Given the description of an element on the screen output the (x, y) to click on. 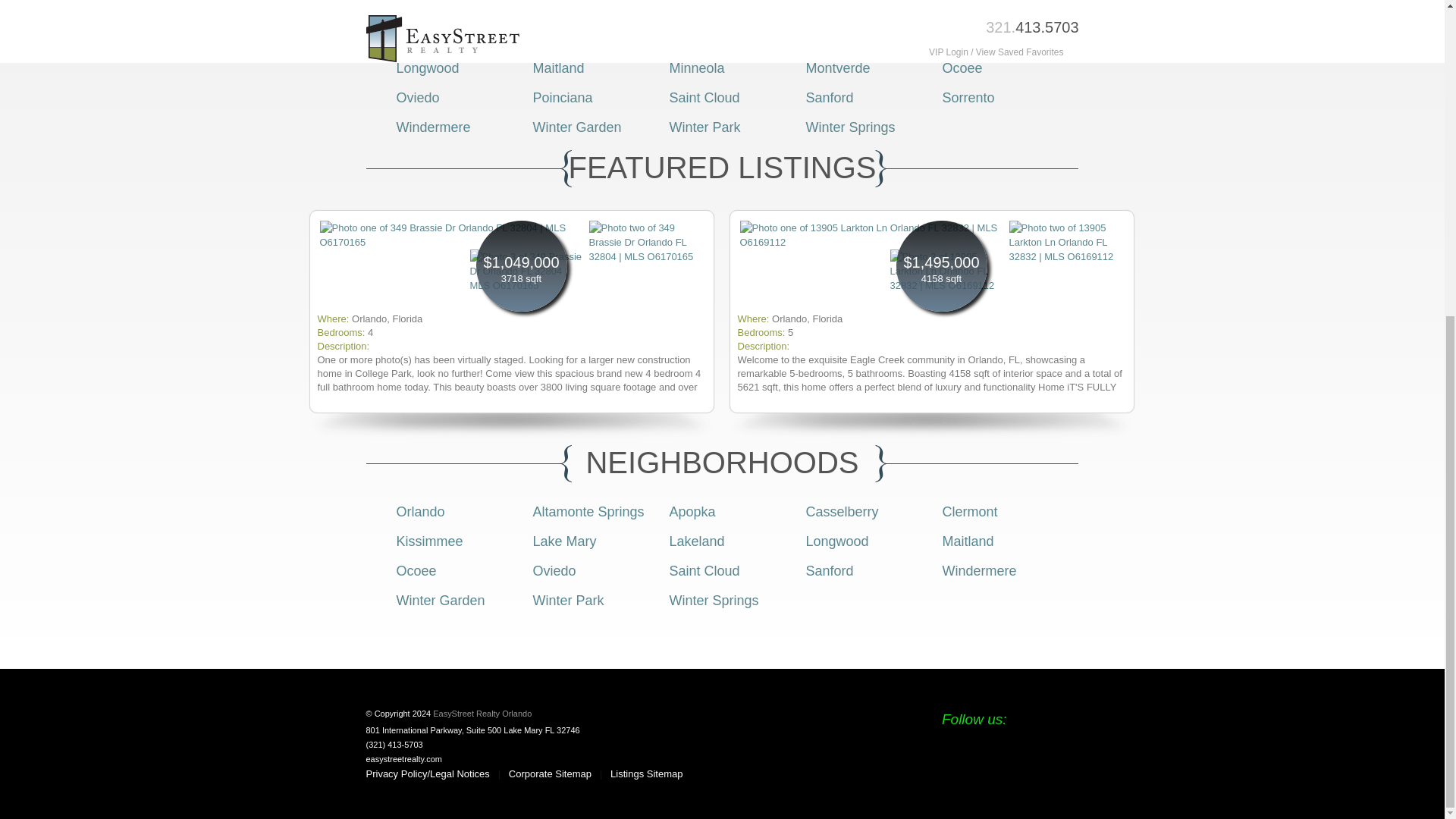
View Apopka, FL homes for sale. (691, 8)
Longwood (427, 68)
Lake Mary (837, 38)
Casselberry (841, 511)
Winter Park (703, 127)
Oviedo (417, 97)
View Altamonte Springs, FL homes for sale. (587, 8)
Orlando (420, 8)
Groveland (563, 38)
View Orlando, FL homes for sale. (420, 8)
View Kissimmee, FL homes for sale. (701, 38)
Montverde (837, 68)
Poinciana (562, 97)
Lakeland (969, 38)
Apopka (691, 511)
